Given the description of an element on the screen output the (x, y) to click on. 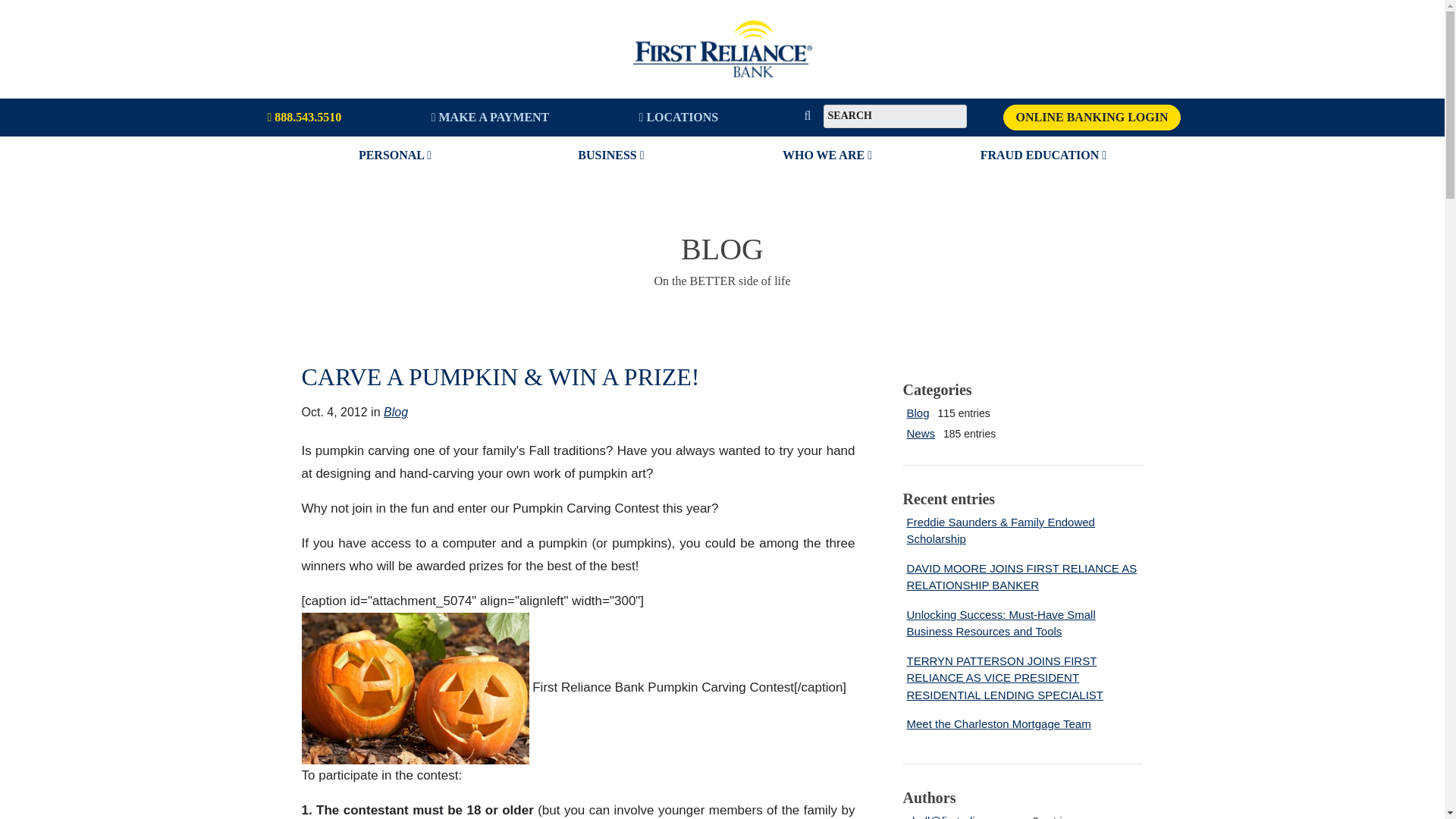
888.543.5510 (304, 117)
 LOCATIONS (678, 117)
MAKE A PAYMENT (490, 117)
ONLINE BANKING LOGIN (1091, 117)
PERSONAL (398, 155)
BUSINESS (613, 155)
